Given the description of an element on the screen output the (x, y) to click on. 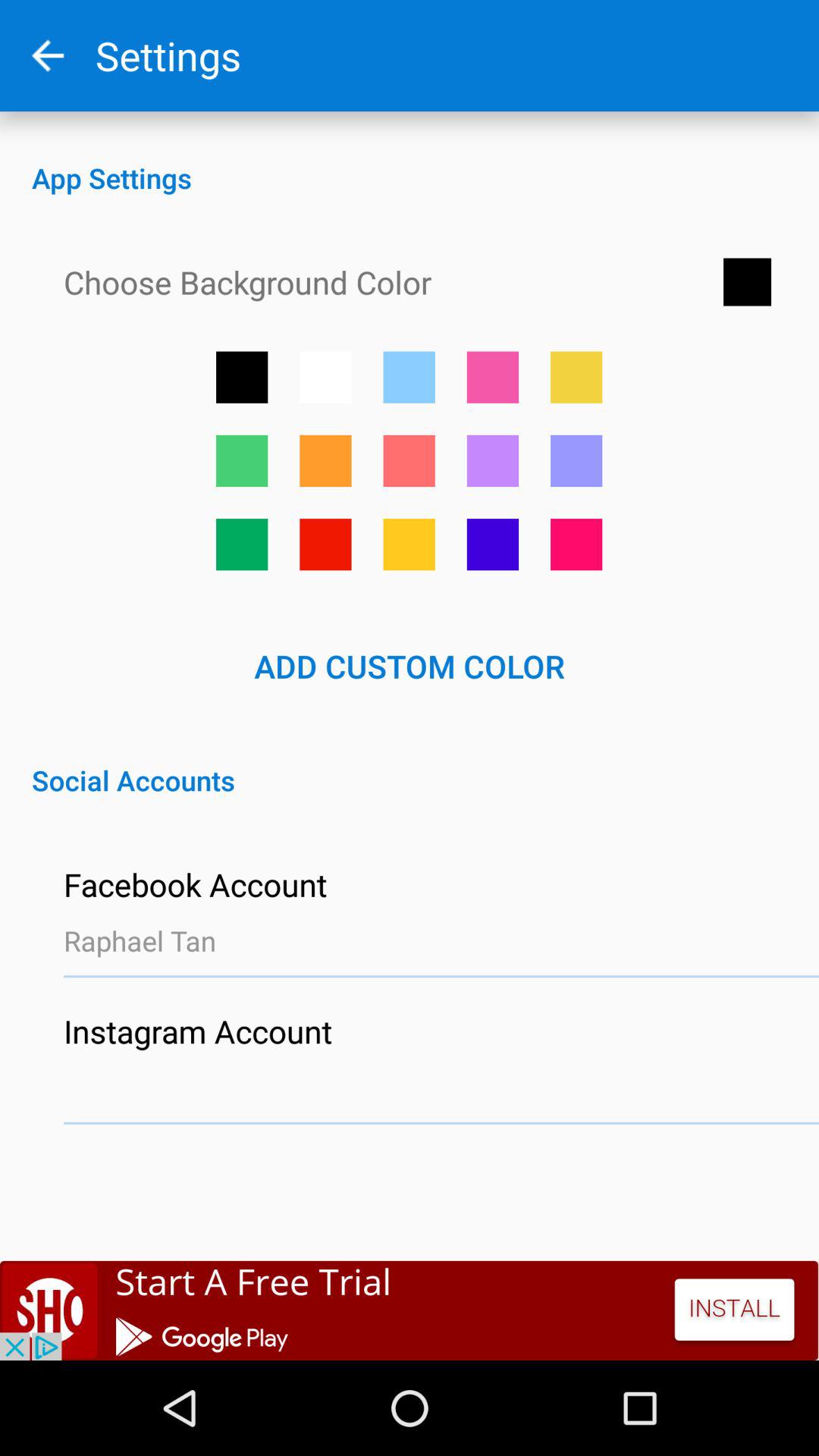
select color (241, 544)
